Given the description of an element on the screen output the (x, y) to click on. 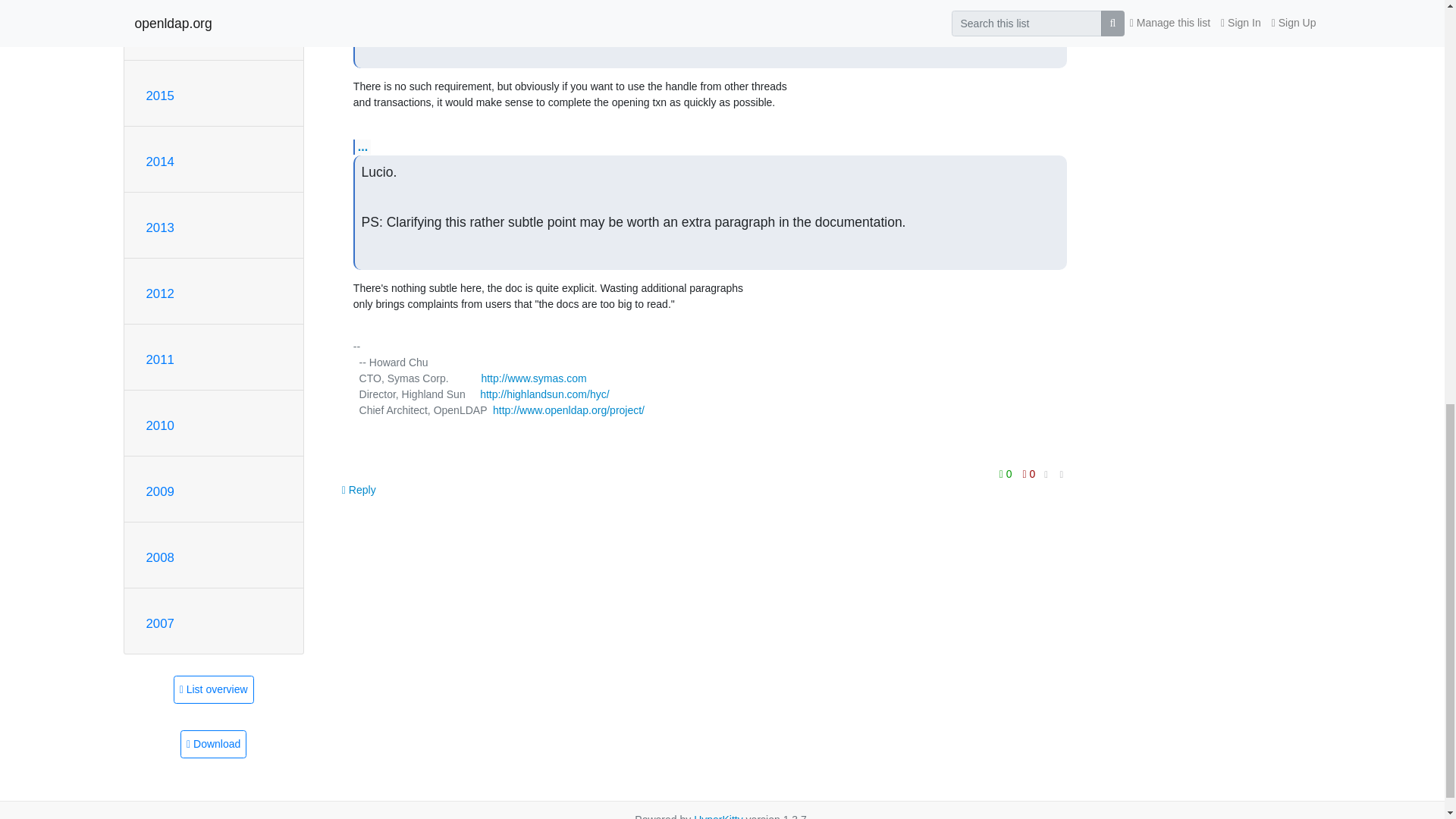
This message in gzipped mbox format (213, 744)
Sign in to reply online (359, 489)
You must be logged-in to vote. (1007, 474)
You must be logged-in to vote. (1029, 474)
